Given the description of an element on the screen output the (x, y) to click on. 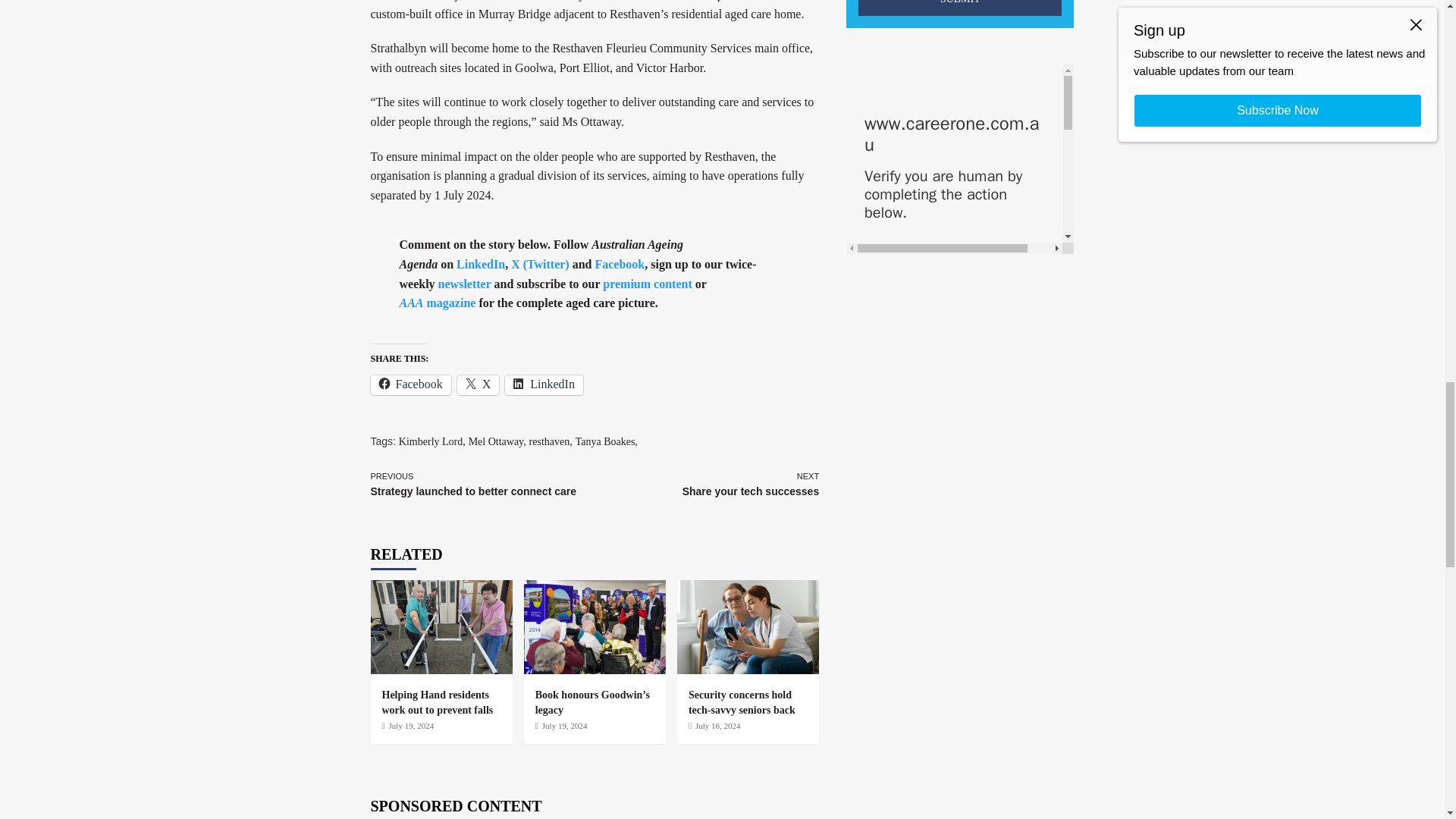
AAA magazine (437, 302)
Kimberly Lord, (431, 441)
313 (864, 679)
Facebook (706, 485)
3rd party ad content (619, 264)
newsletter (959, 57)
315 (465, 283)
Facebook (864, 812)
314 (409, 384)
311 (864, 736)
3rd party ad content (864, 545)
resthaven, (959, 246)
LinkedIn (550, 441)
